Given the description of an element on the screen output the (x, y) to click on. 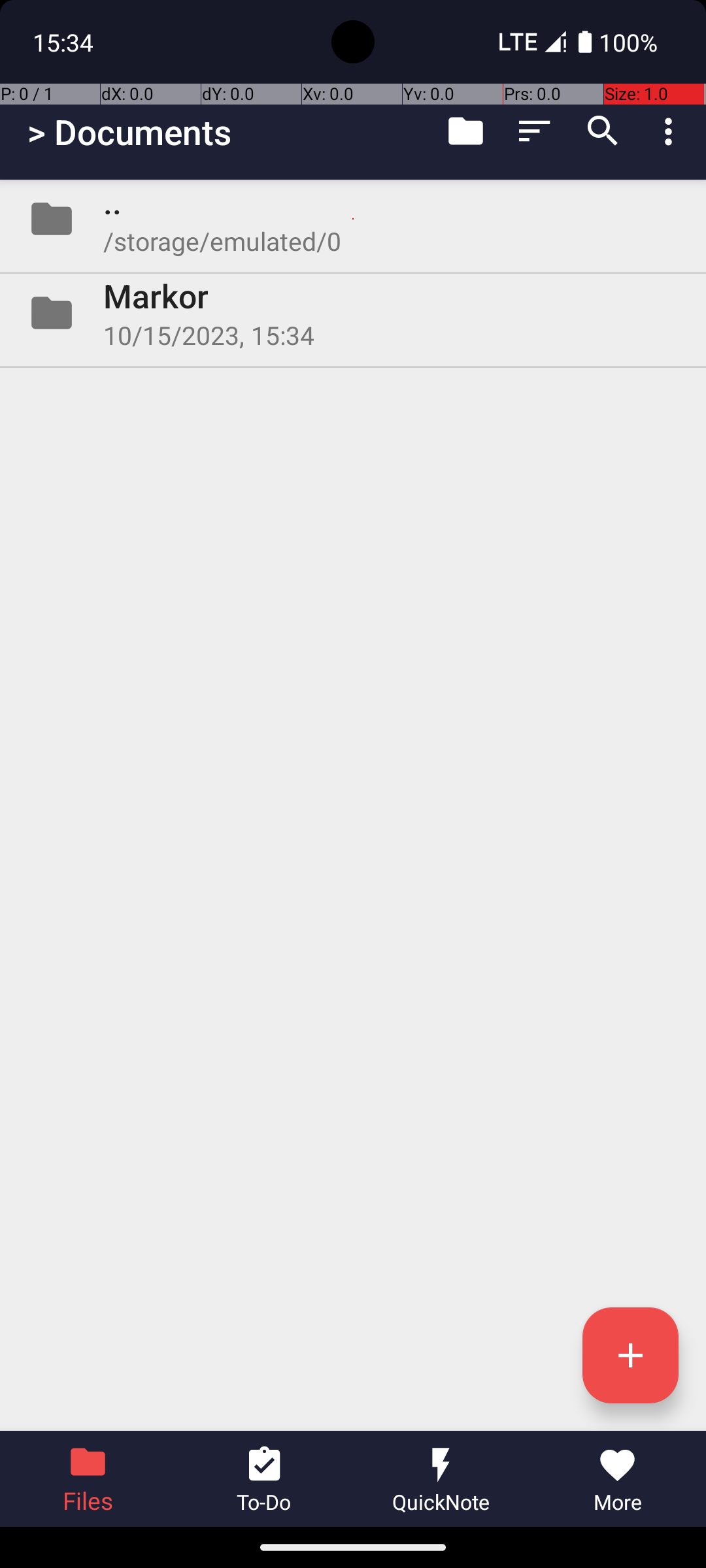
> Documents Element type: android.widget.TextView (129, 131)
Folder Markor 10/15/2023, 15:34 Element type: android.widget.LinearLayout (353, 312)
